Given the description of an element on the screen output the (x, y) to click on. 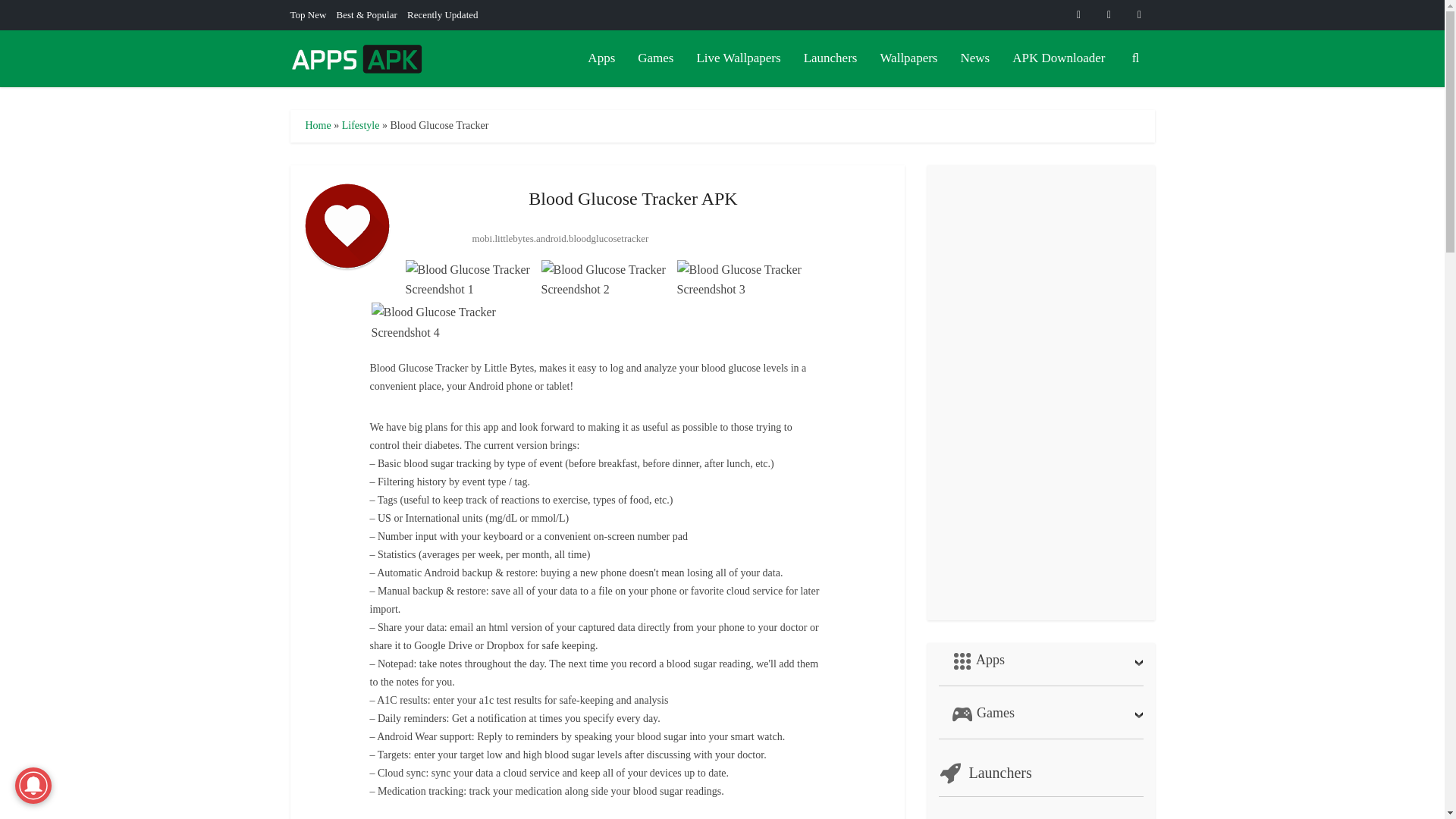
Home (317, 125)
Live Wallpapers (738, 57)
Lifestyle (361, 125)
Blood Glucose Tracker Screendshot 3 (743, 279)
Top New (307, 14)
Launchers (830, 57)
Blood Glucose Tracker Screendshot 2 (607, 279)
Blood Glucose Tracker Screendshot 1 (470, 279)
Apps (601, 57)
Android Launchers (830, 57)
Live Wallpapers (738, 57)
APK Downloader (1058, 57)
Blood Glucose Tracker Screendshot 4 (437, 322)
Wallpapers (908, 57)
Games (655, 57)
